Given the description of an element on the screen output the (x, y) to click on. 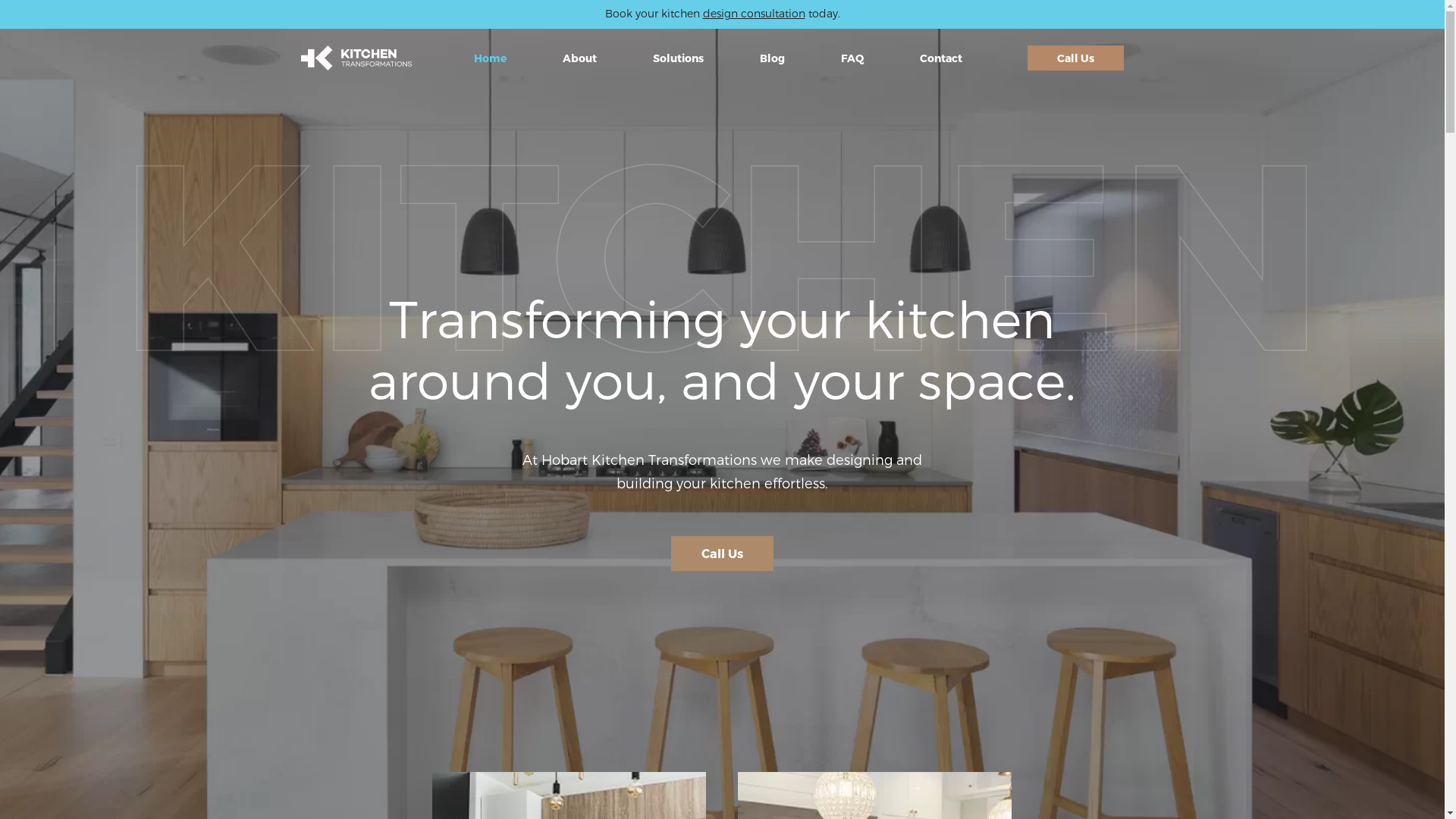
Blog Element type: text (777, 57)
Solutions Element type: text (682, 57)
Call Us Element type: text (722, 553)
About Element type: text (584, 57)
Call Us Element type: text (1074, 57)
FAQ Element type: text (856, 57)
Contact Element type: text (945, 57)
design consultation Element type: text (753, 12)
Home Element type: text (494, 57)
